Given the description of an element on the screen output the (x, y) to click on. 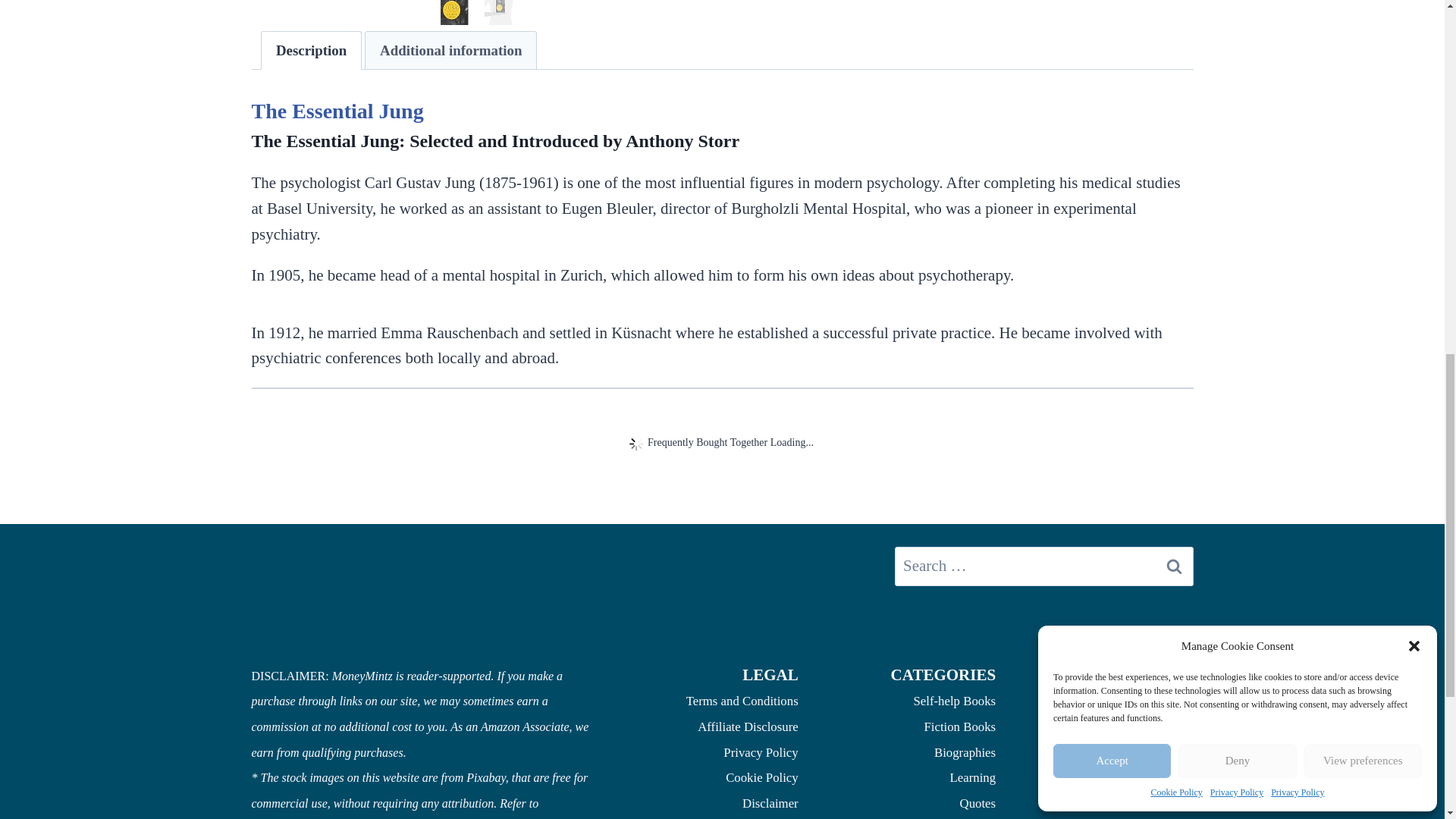
Search (1174, 565)
Fiction Books (959, 726)
Privacy Policy (760, 752)
Affiliate Disclosure (747, 726)
Disclaimer (769, 803)
Search (1174, 565)
Description (311, 49)
Self-help Books (953, 700)
Cookie Policy (761, 777)
Terms and Conditions (741, 700)
Additional information (450, 49)
Search (1174, 565)
